Given the description of an element on the screen output the (x, y) to click on. 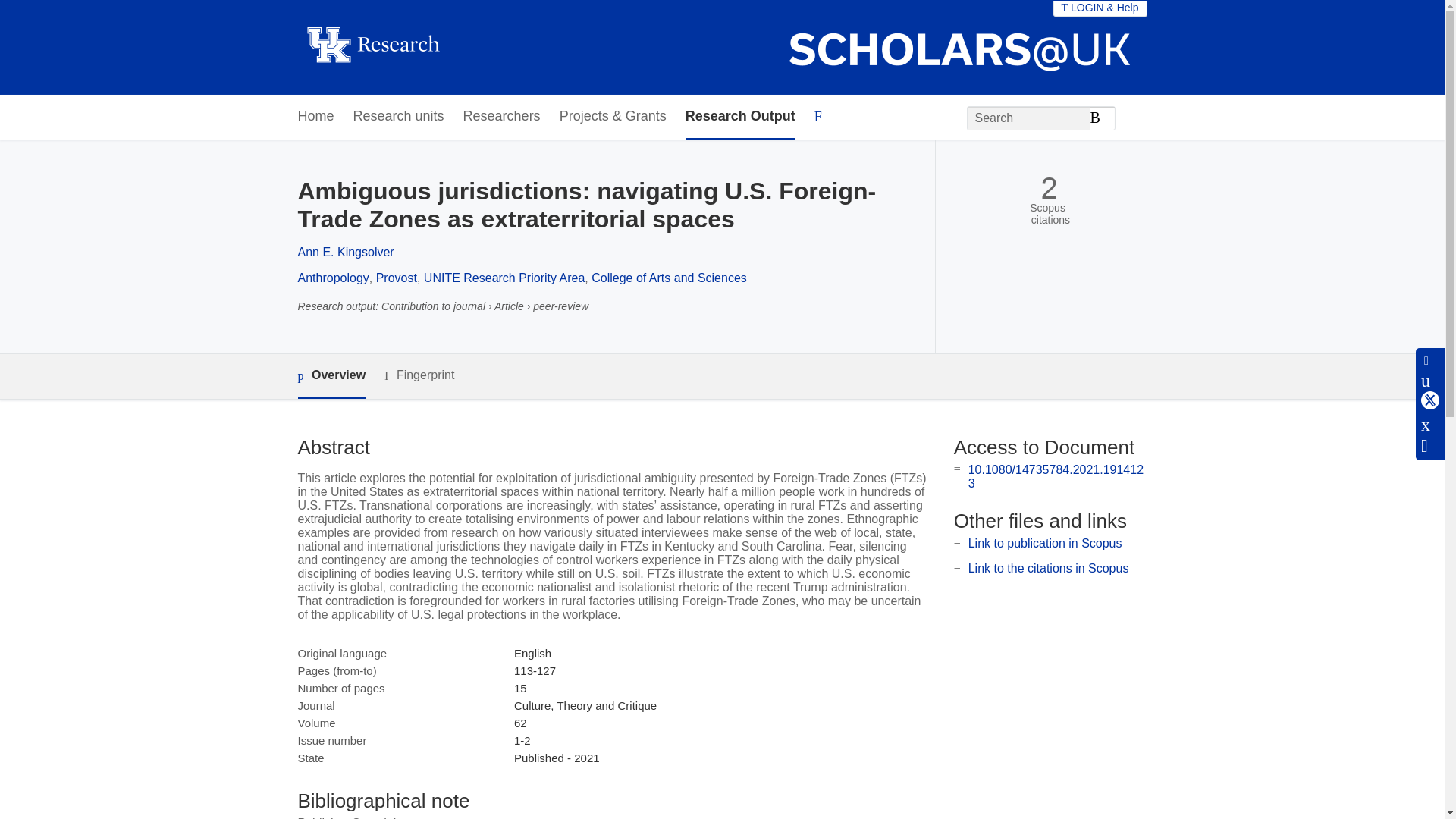
Link to the citations in Scopus (1048, 567)
Link to publication in Scopus (1045, 543)
Provost (395, 277)
University of Kentucky Home (372, 47)
UNITE Research Priority Area (504, 277)
Ann E. Kingsolver (345, 251)
Anthropology (332, 277)
Overview (331, 375)
Research units (398, 117)
Fingerprint (419, 375)
Research Output (739, 117)
Researchers (501, 117)
College of Arts and Sciences (668, 277)
